Given the description of an element on the screen output the (x, y) to click on. 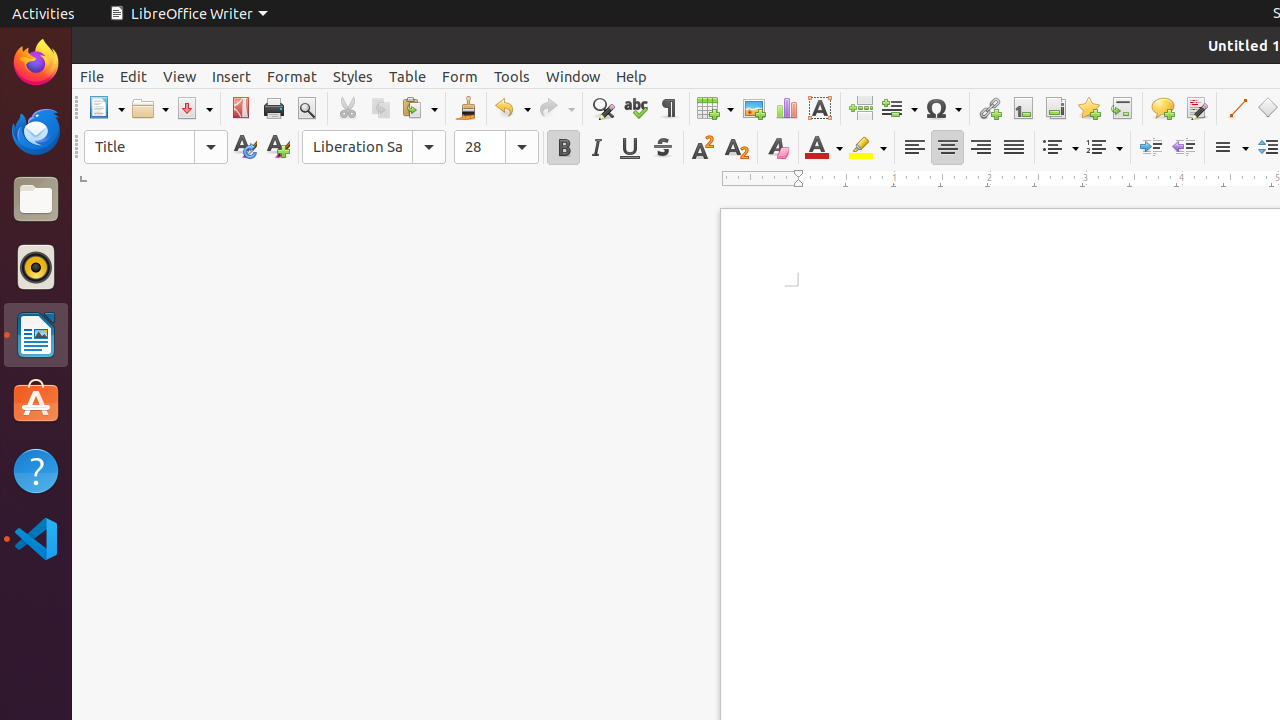
Font Name Element type: combo-box (374, 147)
Thunderbird Mail Element type: push-button (36, 131)
Clone Element type: push-button (465, 108)
Right Element type: toggle-button (980, 147)
Formatting Marks Element type: toggle-button (668, 108)
